Given the description of an element on the screen output the (x, y) to click on. 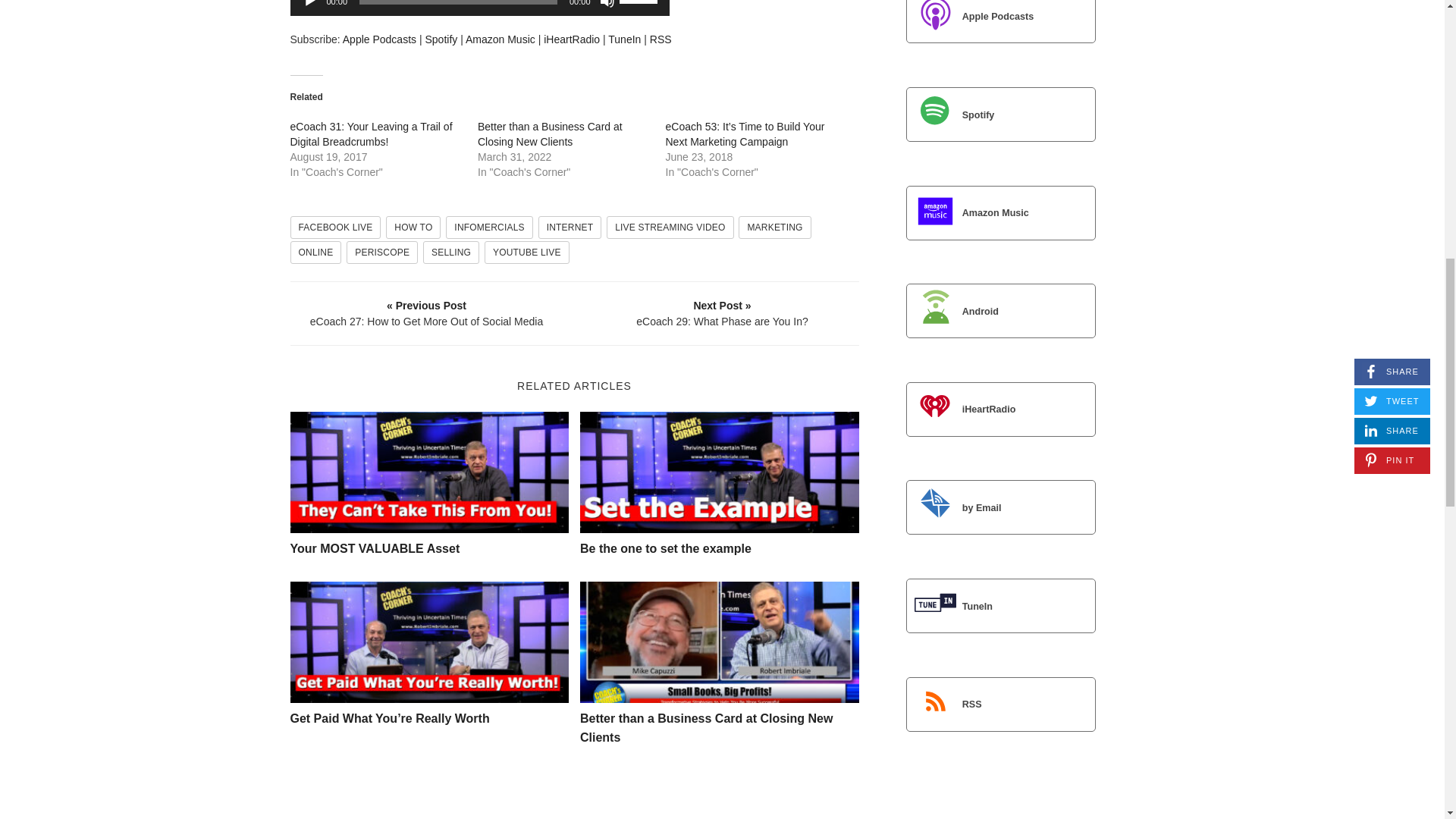
Better than a Business Card at Closing New Clients (550, 134)
Subscribe on Spotify (441, 39)
Apple Podcasts (379, 39)
Subscribe on Apple Podcasts (379, 39)
RSS (660, 39)
Spotify (441, 39)
eCoach 31: Your Leaving a Trail of Digital Breadcrumbs! (370, 134)
Mute (606, 4)
Amazon Music (500, 39)
Subscribe on iHeartRadio (571, 39)
iHeartRadio (571, 39)
Subscribe on Amazon Music (500, 39)
TuneIn (624, 39)
Play (309, 4)
